Given the description of an element on the screen output the (x, y) to click on. 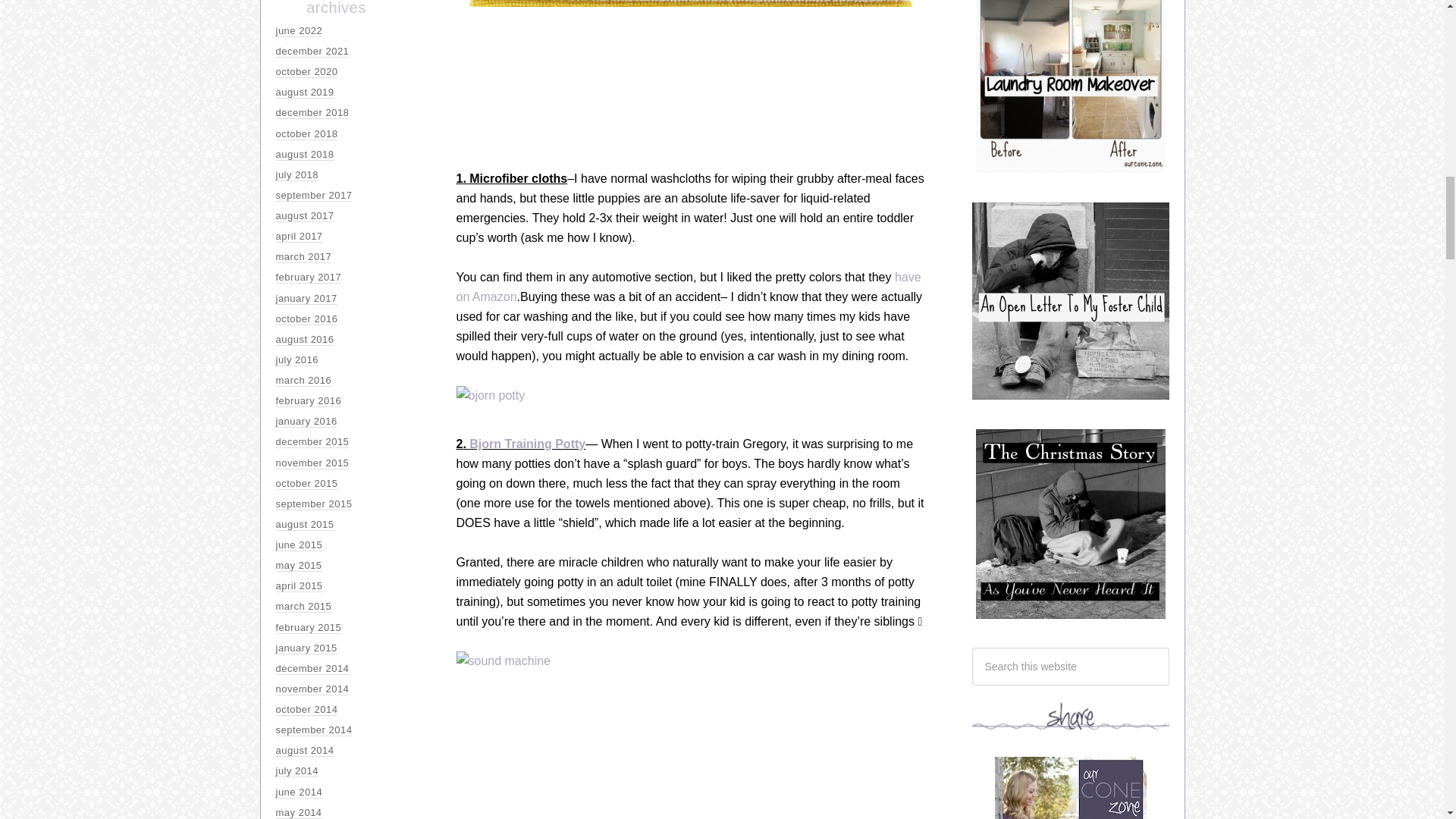
Our Cone Zone (1070, 787)
Bjorn Training Potty (526, 443)
have on Amazon (689, 287)
